Given the description of an element on the screen output the (x, y) to click on. 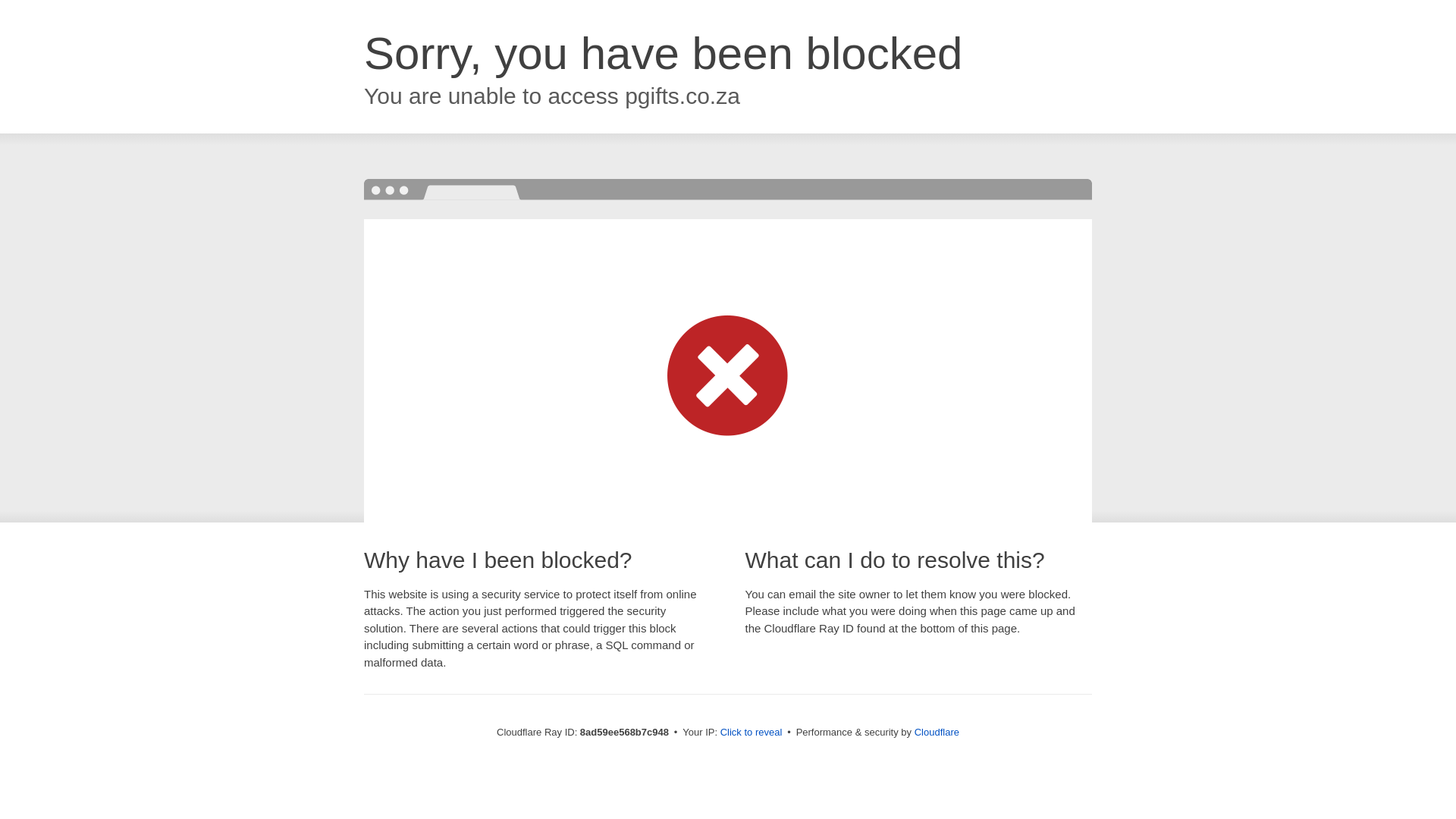
Click to reveal (751, 732)
Cloudflare (936, 731)
